Given the description of an element on the screen output the (x, y) to click on. 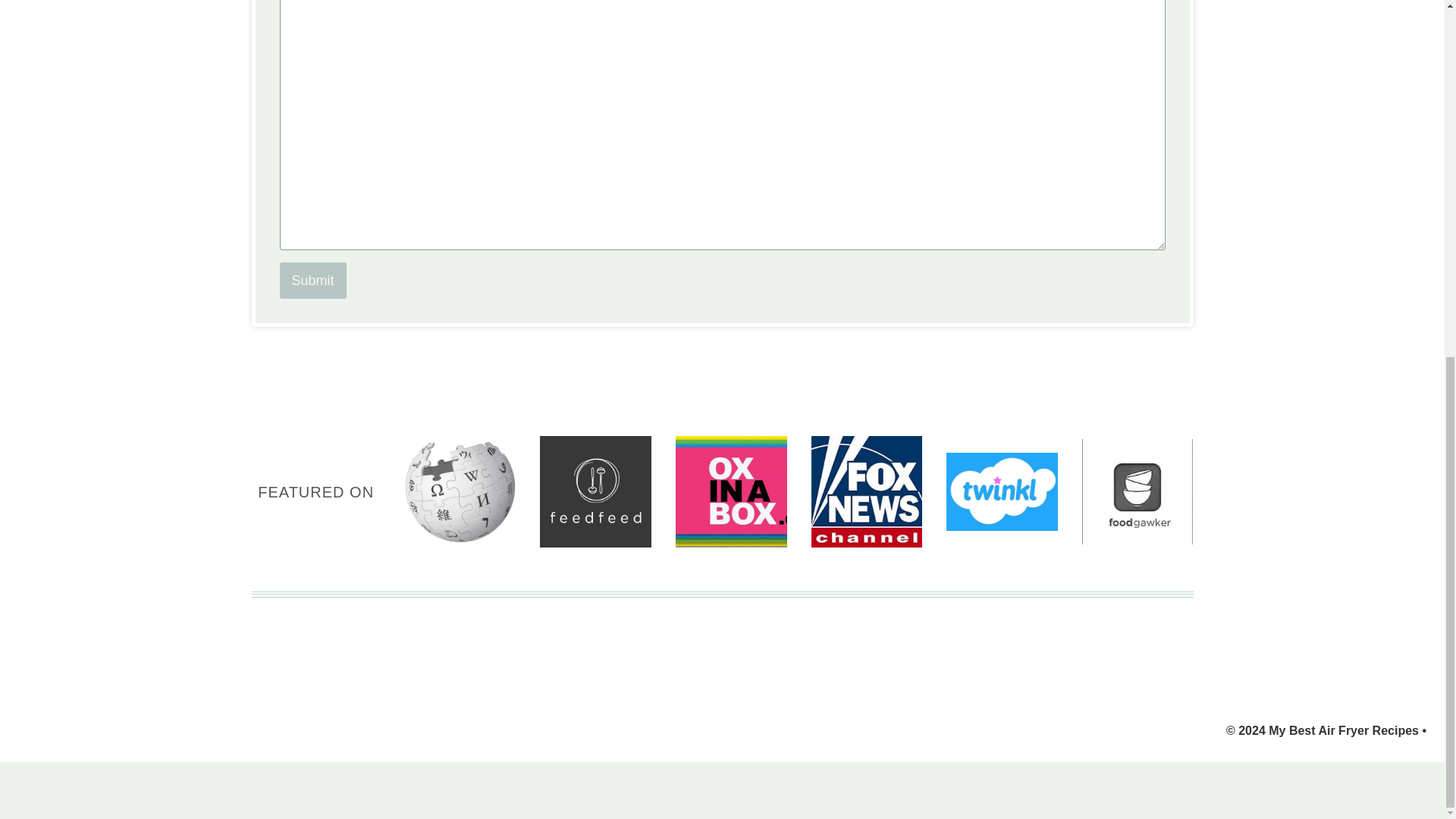
Submit (312, 280)
